Given the description of an element on the screen output the (x, y) to click on. 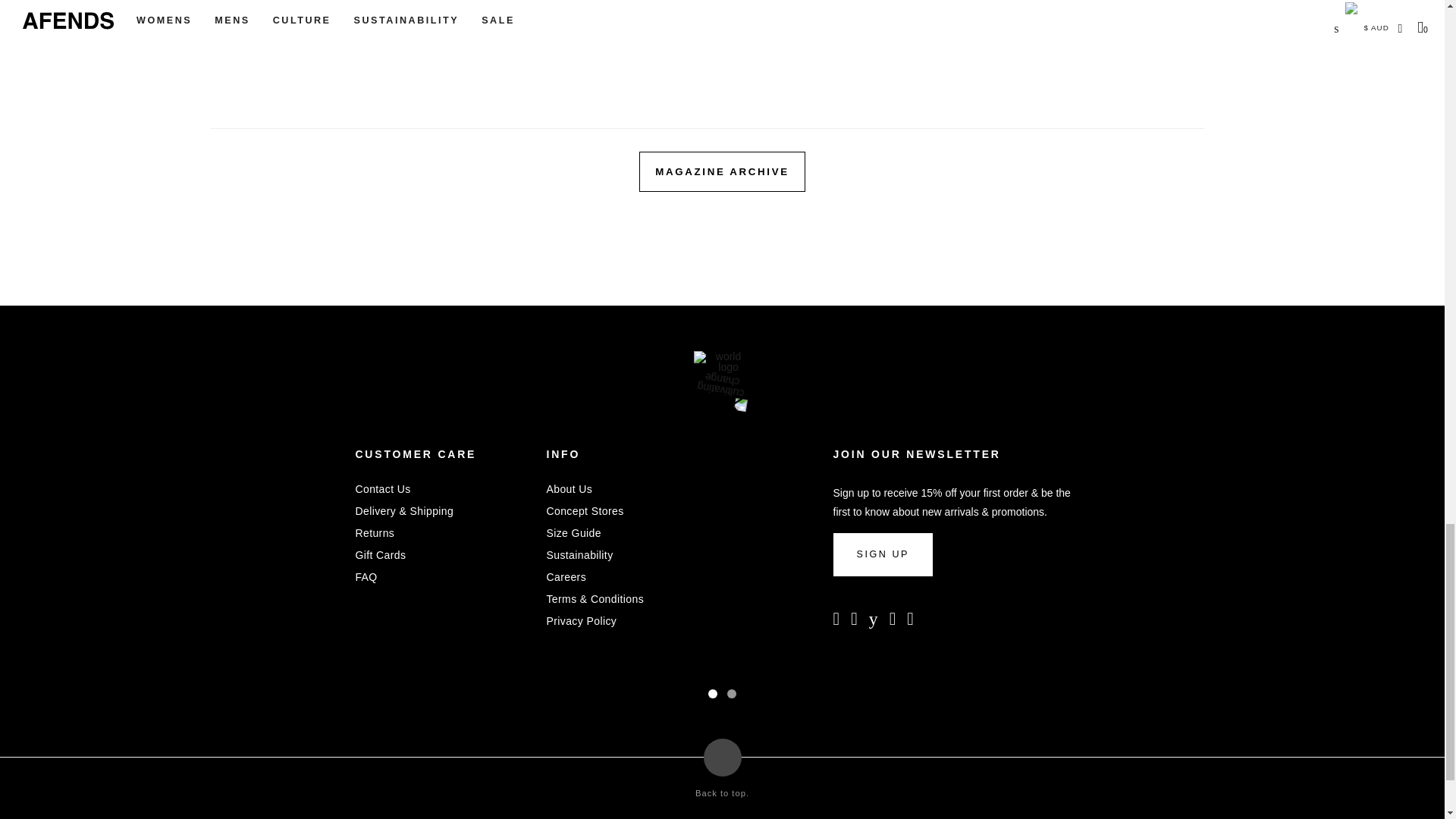
About Us (569, 489)
Sustainability (579, 554)
Size Guide (572, 532)
Concept Stores (584, 510)
